Given the description of an element on the screen output the (x, y) to click on. 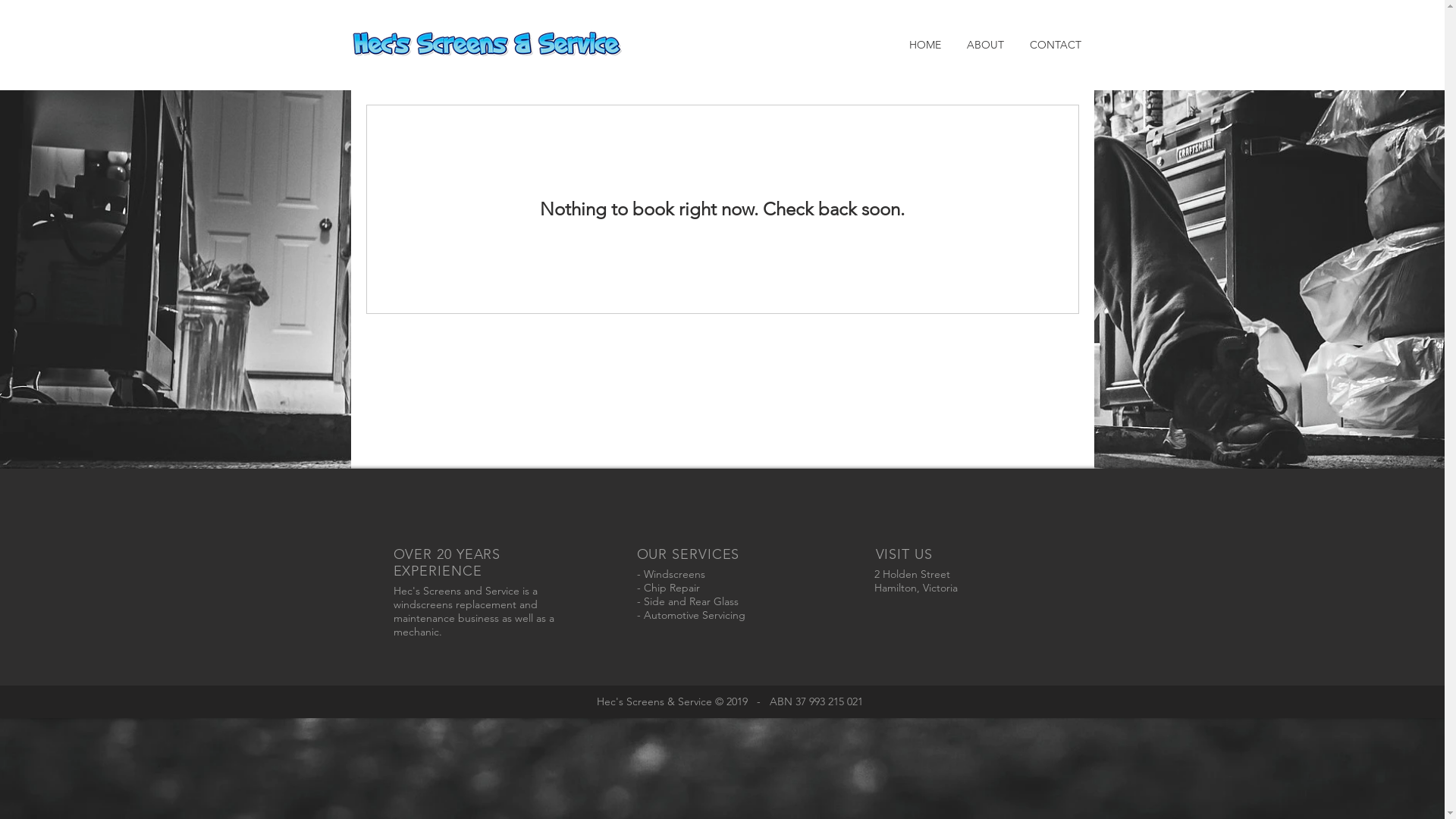
HOME Element type: text (924, 44)
CONTACT Element type: text (1054, 44)
ABOUT Element type: text (984, 44)
